Given the description of an element on the screen output the (x, y) to click on. 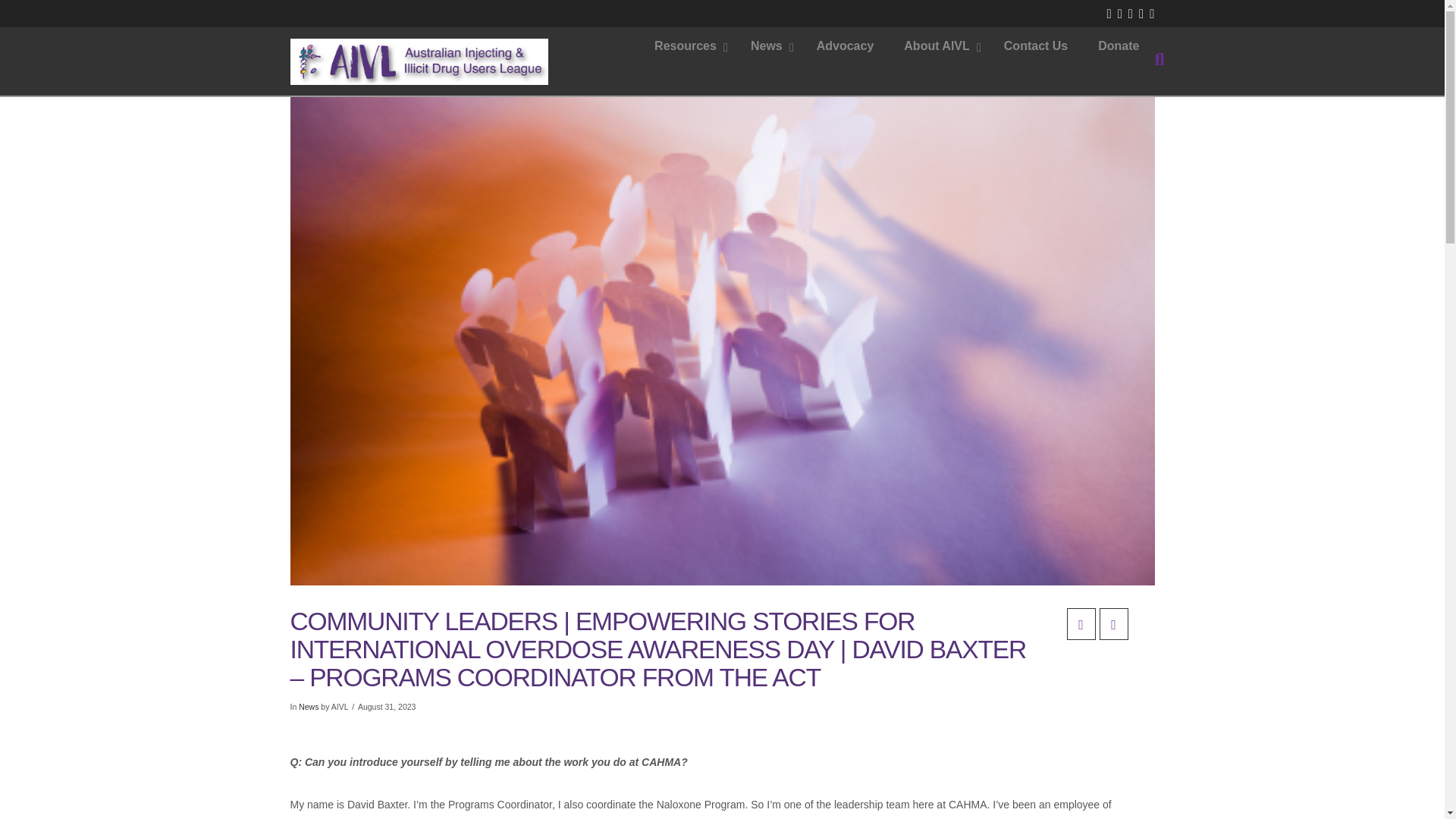
News (768, 46)
Contact Us (1035, 46)
About AIVL (938, 46)
Advocacy (845, 46)
Resources (687, 46)
News (308, 706)
Donate (1118, 46)
